Given the description of an element on the screen output the (x, y) to click on. 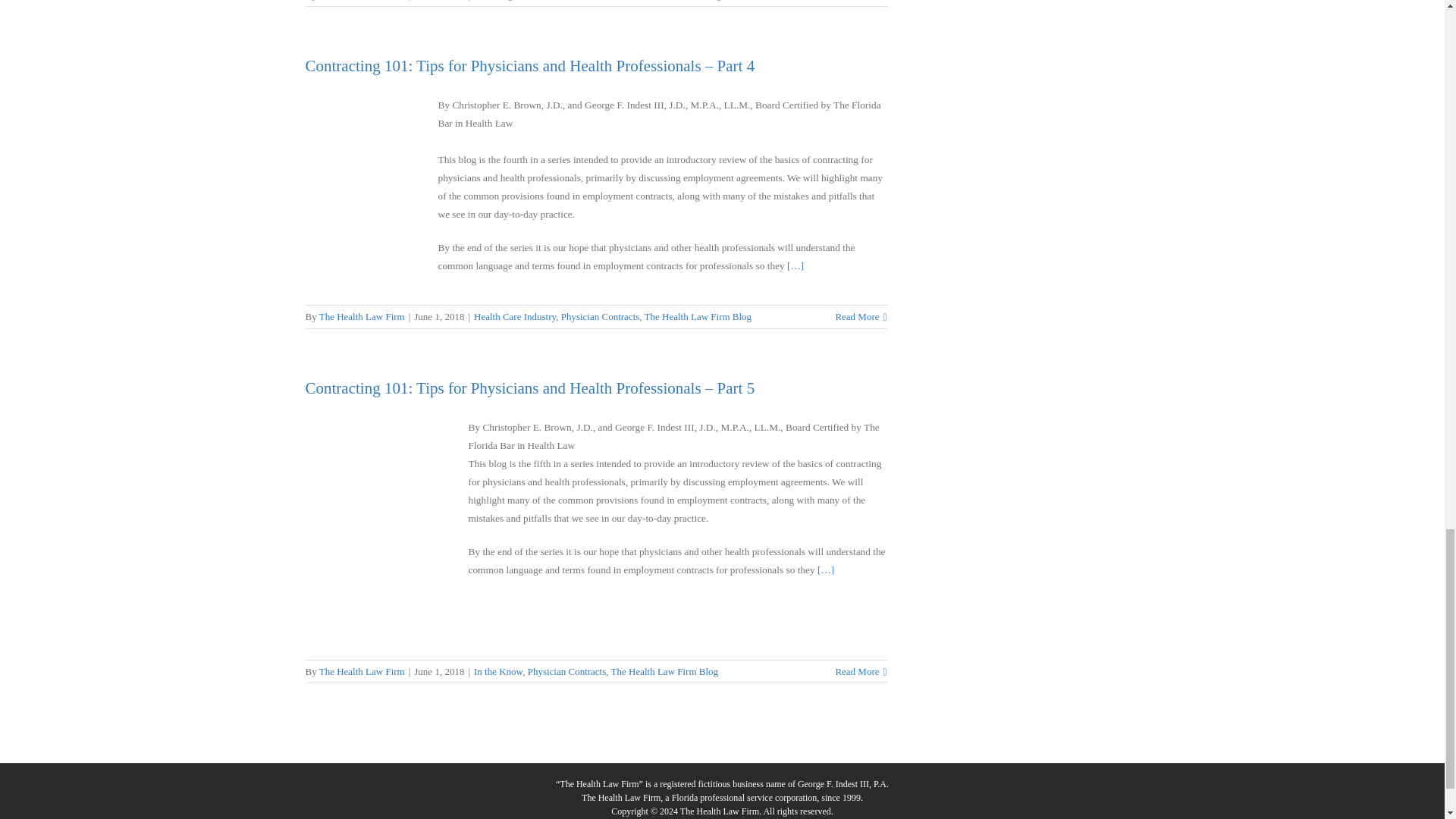
Posts by The Health Law Firm (361, 316)
Posts by The Health Law Firm (361, 671)
